Given the description of an element on the screen output the (x, y) to click on. 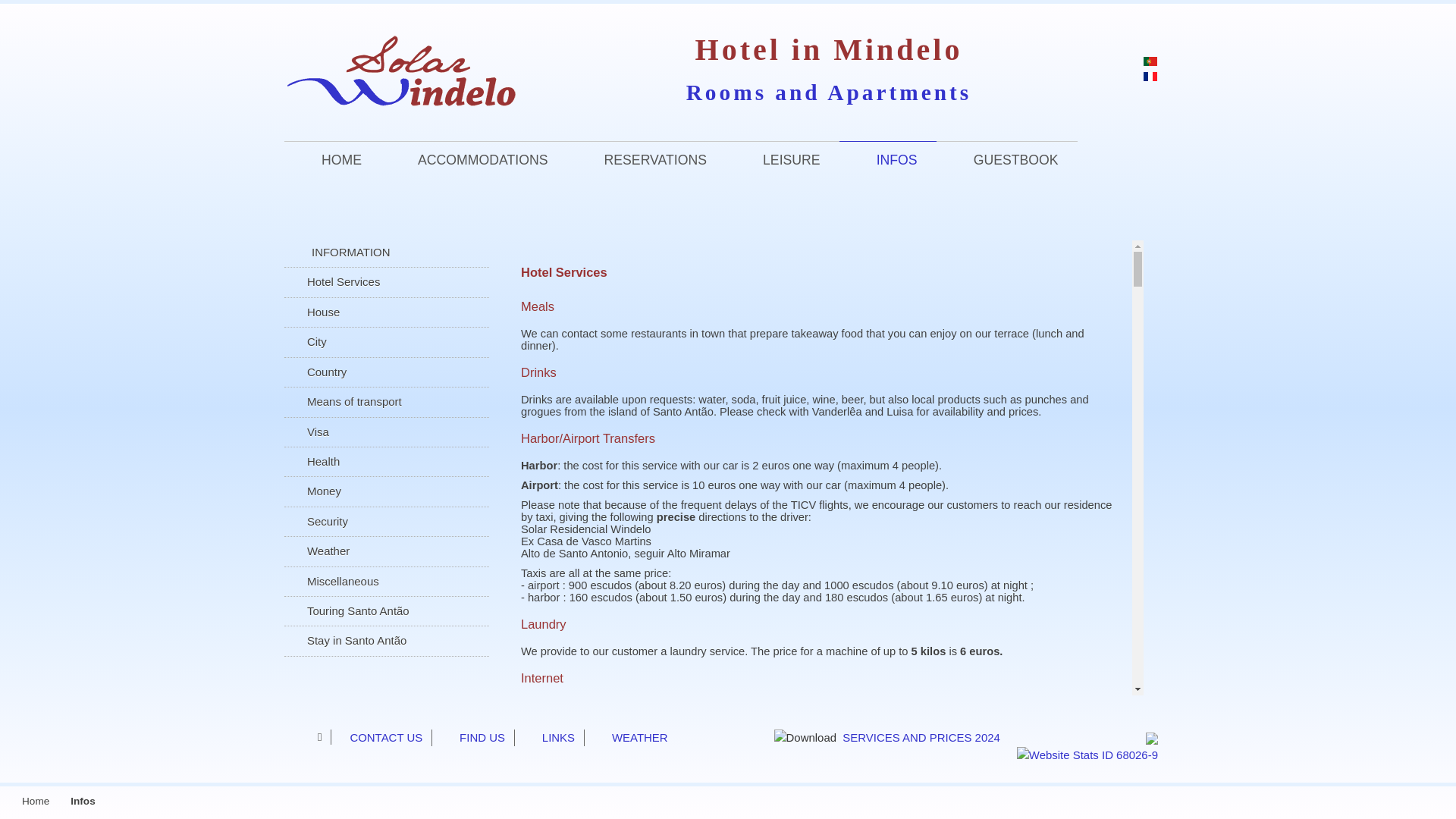
GUESTBOOK (1006, 169)
INFOS (888, 169)
HOME (331, 169)
RESERVATIONS (646, 169)
ACCOMMODATIONS (473, 169)
LEISURE (782, 169)
You are here:  (12, 801)
